Given the description of an element on the screen output the (x, y) to click on. 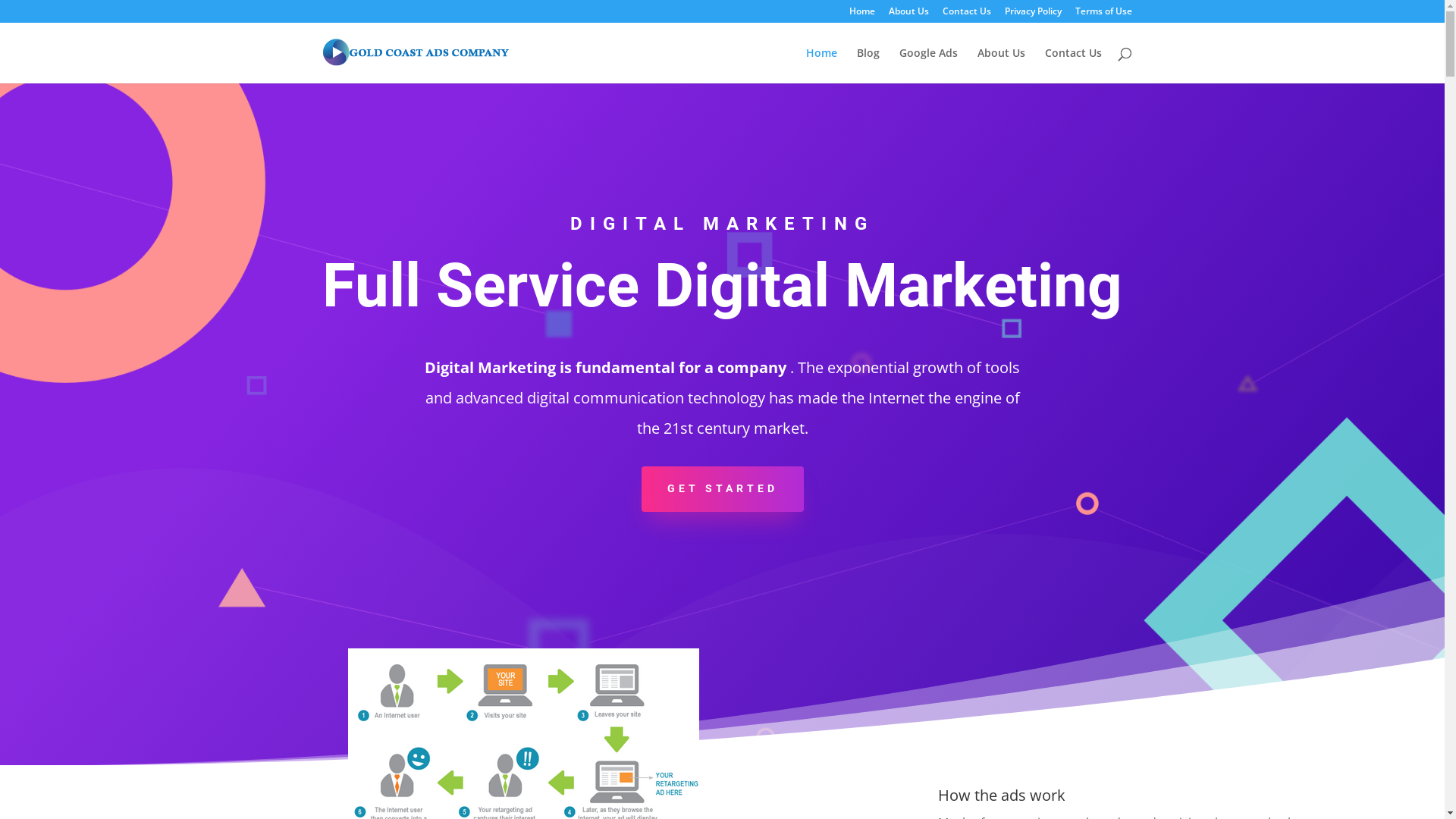
About Us Element type: text (1000, 65)
GET STARTED Element type: text (722, 488)
Home Element type: text (862, 14)
Google Ads Element type: text (928, 65)
Contact Us Element type: text (1072, 65)
Terms of Use Element type: text (1103, 14)
Privacy Policy Element type: text (1032, 14)
Contact Us Element type: text (965, 14)
About Us Element type: text (908, 14)
Blog Element type: text (867, 65)
Home Element type: text (820, 65)
